Given the description of an element on the screen output the (x, y) to click on. 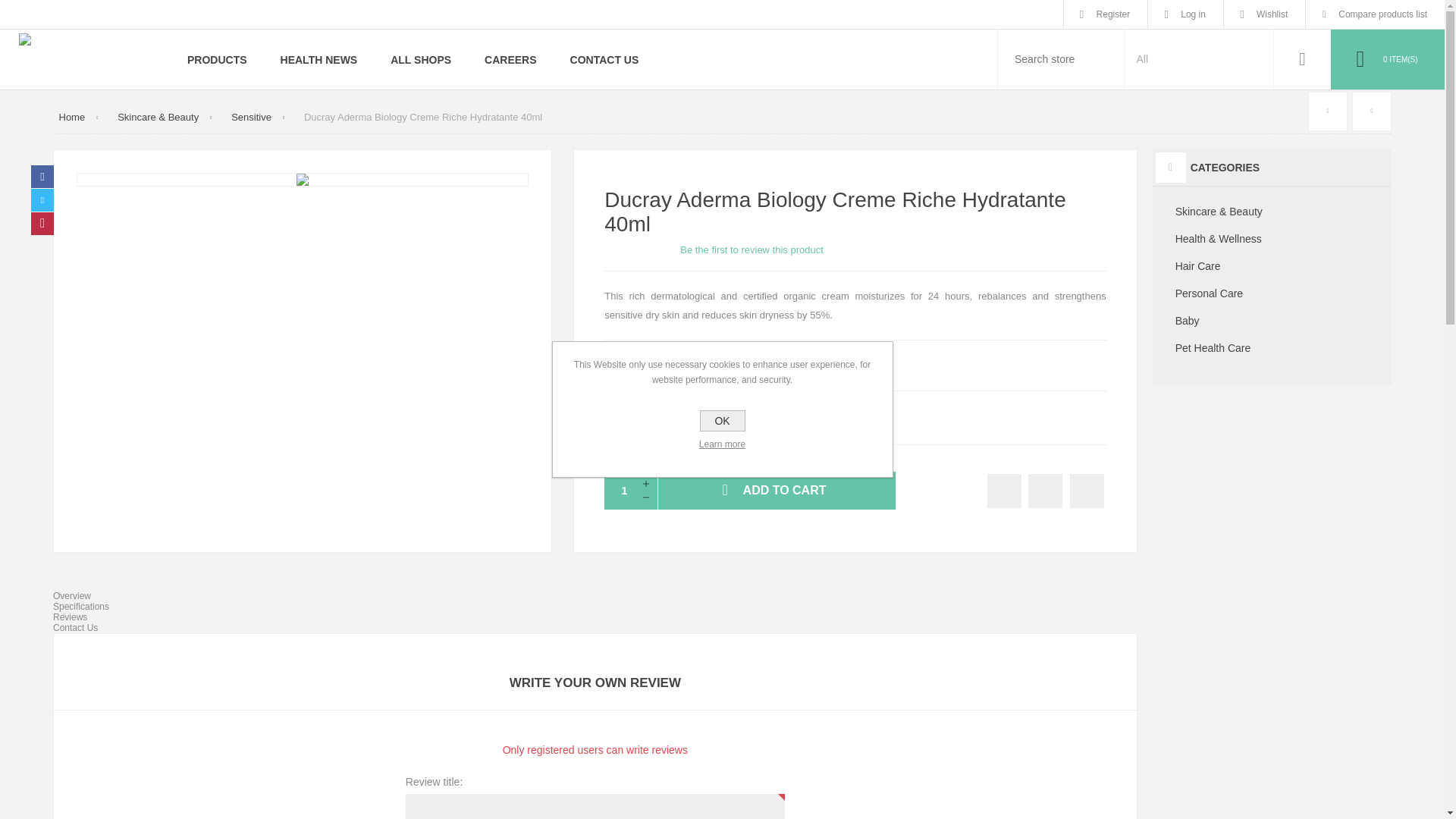
Log in (1185, 14)
Wishlist (1264, 14)
Register (1106, 14)
